Given the description of an element on the screen output the (x, y) to click on. 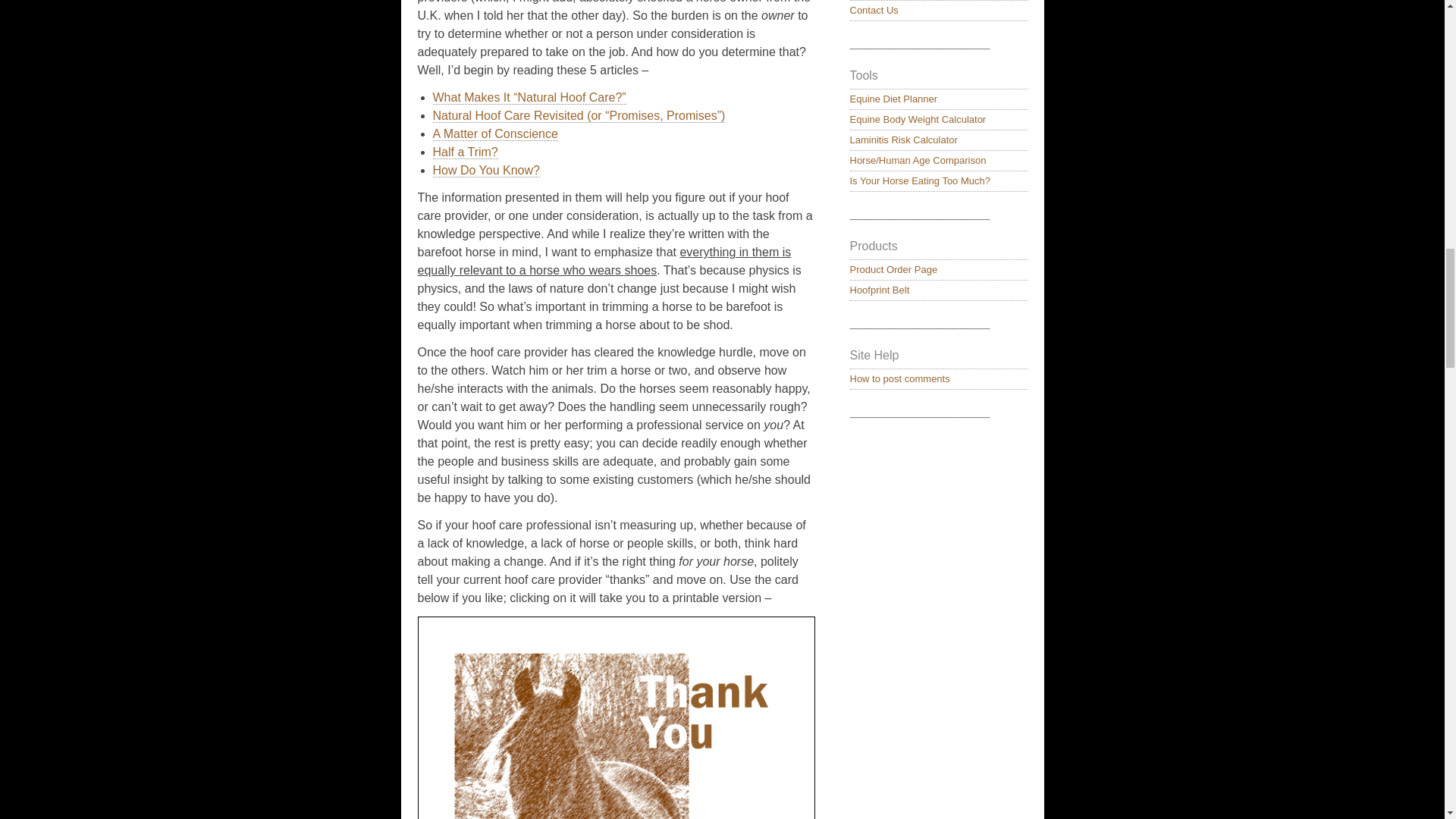
Half a Trim? (464, 151)
How Do You Know? (485, 170)
A Matter of Conscience (494, 133)
A Matter of Conscience (494, 133)
Half a Trim? (464, 151)
How Do You Know? (485, 170)
